Given the description of an element on the screen output the (x, y) to click on. 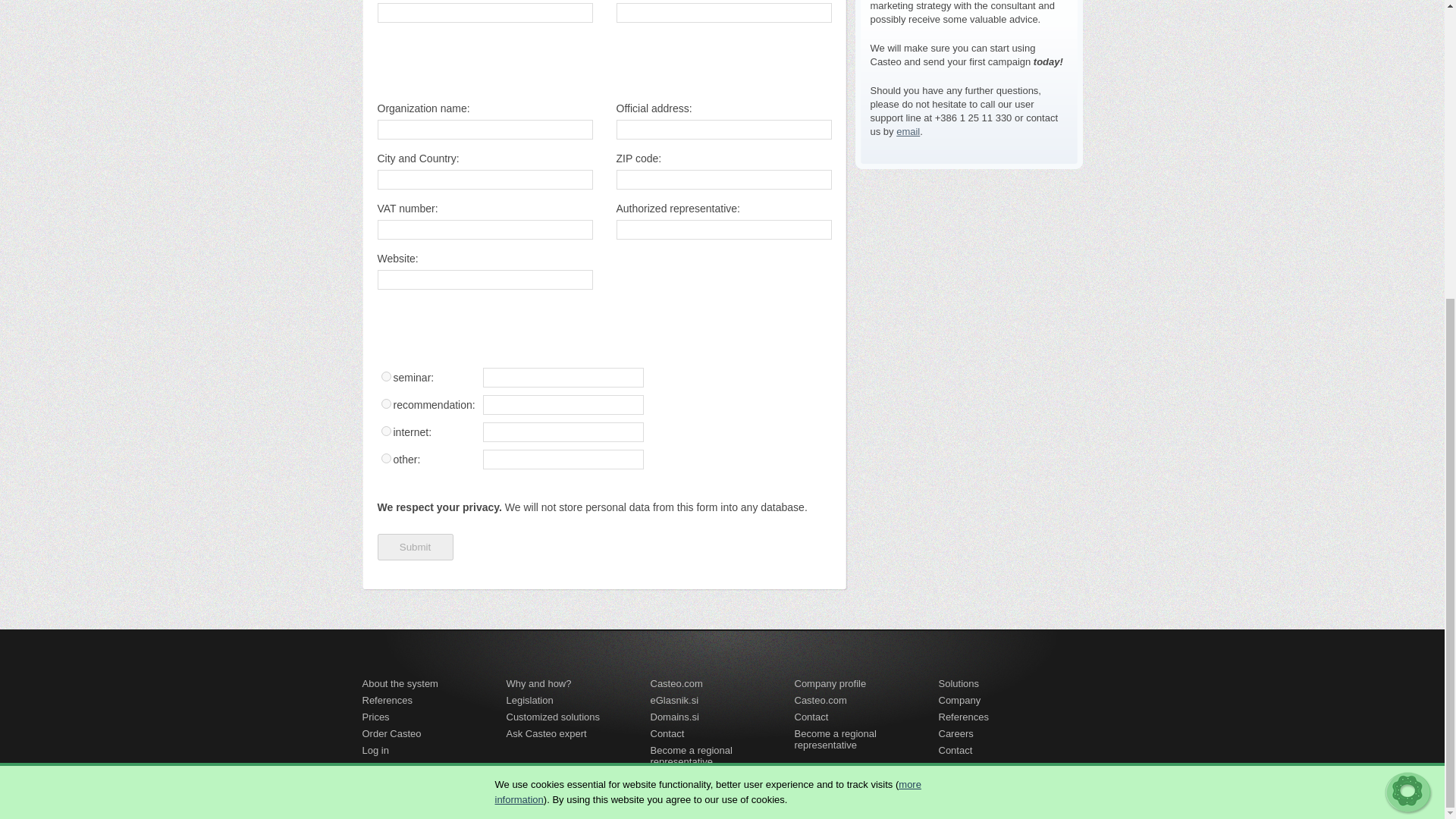
more information (707, 328)
Contact (955, 752)
Contact (811, 719)
Customized solutions (552, 719)
Company profile (830, 686)
Become a regional representative (722, 752)
Casteo.com (820, 702)
Log in (375, 752)
References (387, 702)
About the system (400, 686)
Order Casteo (392, 736)
Careers (956, 736)
Solutions (958, 686)
Legislation (529, 702)
email (908, 131)
